Given the description of an element on the screen output the (x, y) to click on. 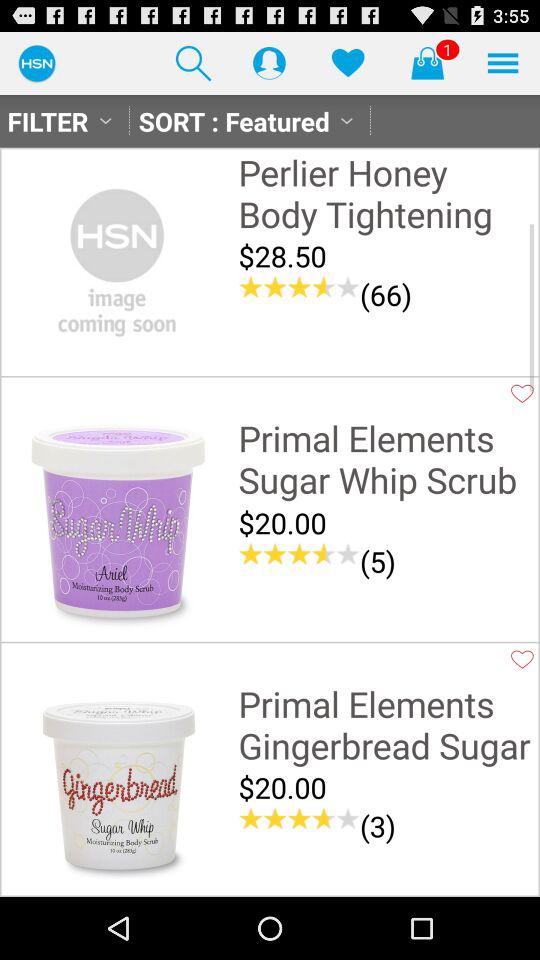
tap item next to perlier honey body (117, 259)
